Given the description of an element on the screen output the (x, y) to click on. 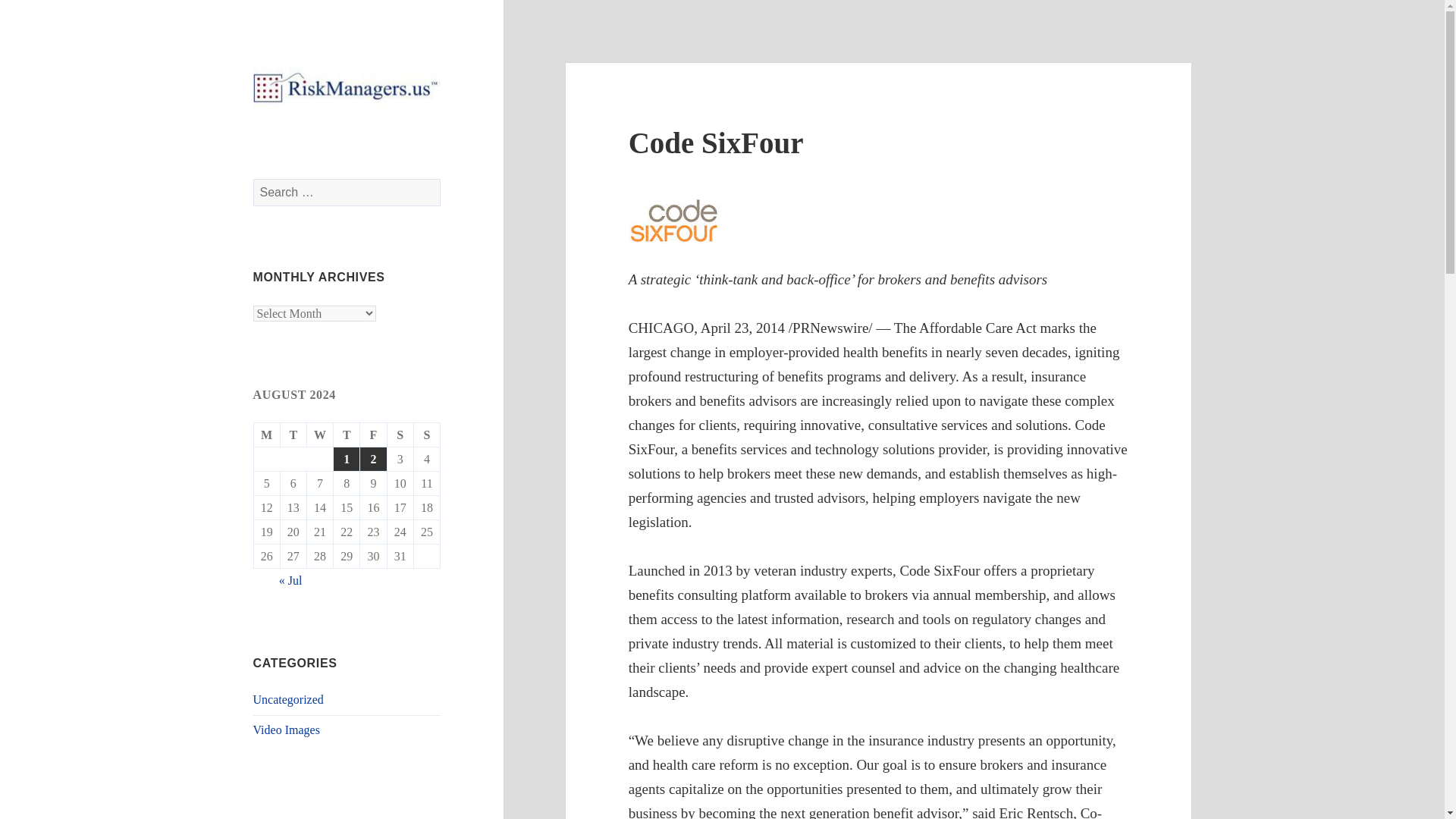
Video Images (286, 729)
Risk Managers (325, 139)
Sunday (427, 435)
1 (346, 458)
Tuesday (294, 435)
Uncategorized (288, 698)
Thursday (346, 435)
Wednesday (320, 435)
Saturday (400, 435)
Monday (267, 435)
Friday (373, 435)
2 (372, 458)
